Given the description of an element on the screen output the (x, y) to click on. 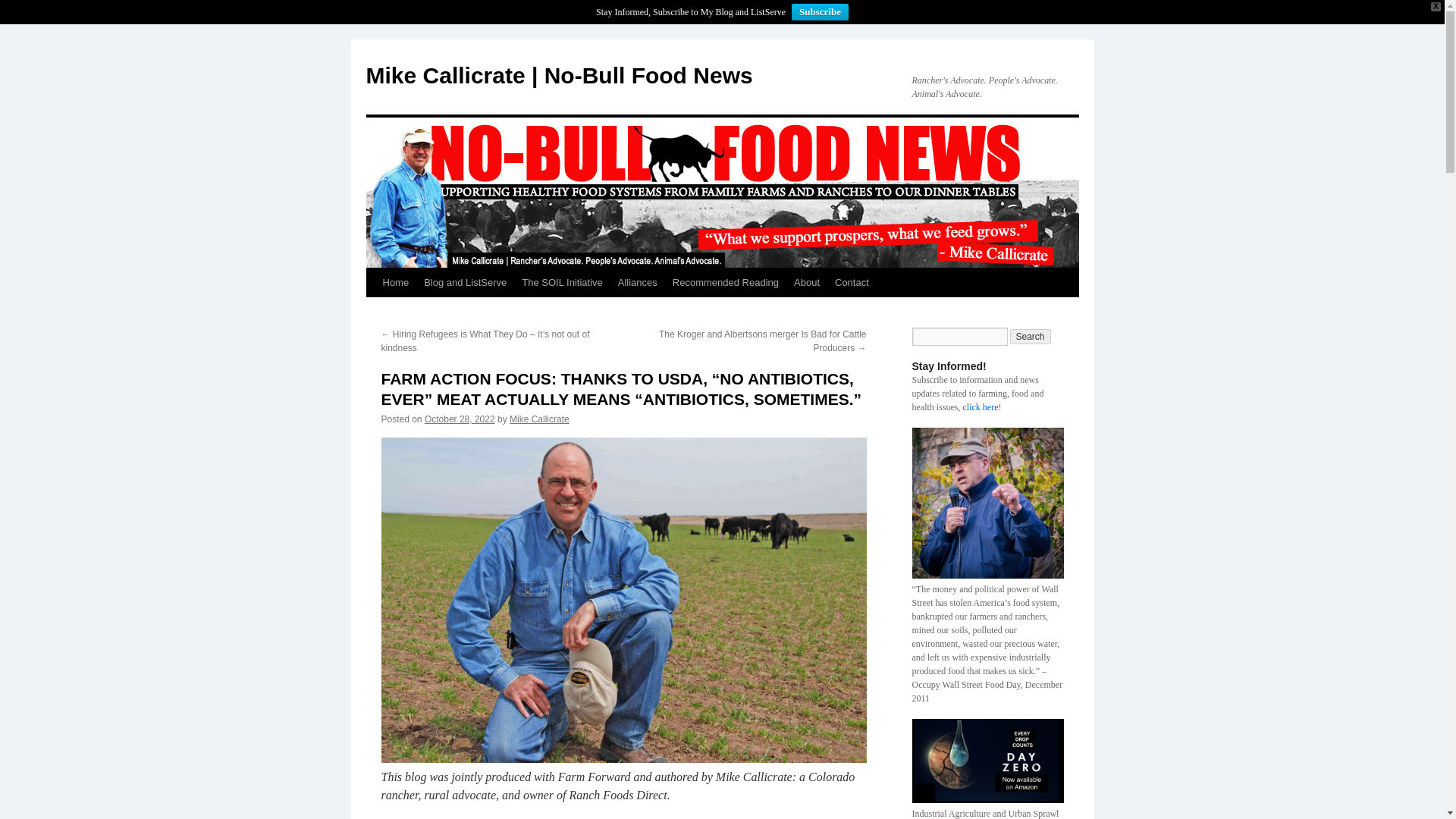
Home (395, 282)
8:48 am (460, 419)
Search (1030, 336)
Subscribe (820, 12)
About (806, 282)
Alliances (637, 282)
click here (980, 407)
View all posts by Mike Callicrate (539, 419)
Blog and ListServe (464, 282)
Search (1030, 336)
